Given the description of an element on the screen output the (x, y) to click on. 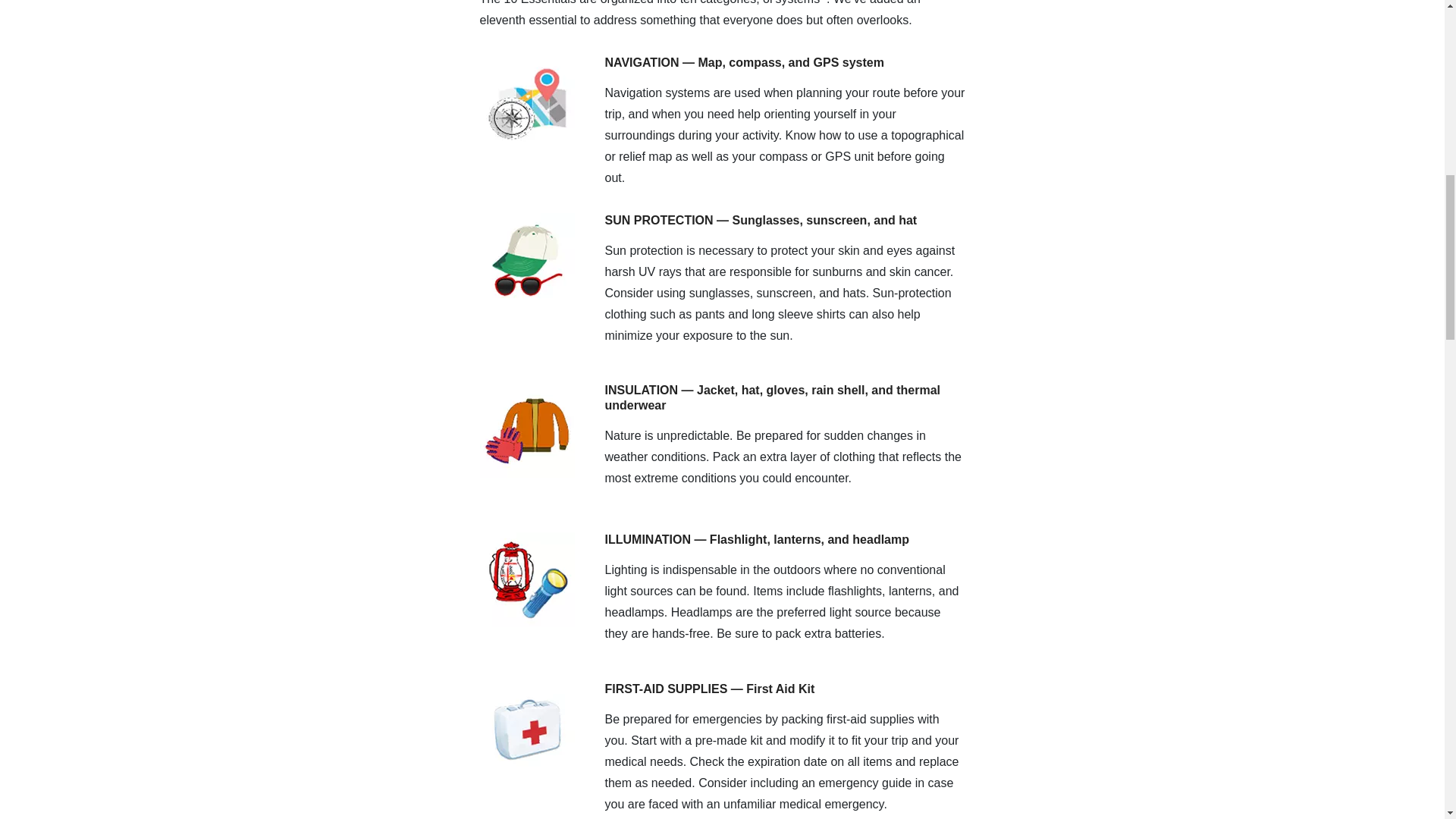
First-Aid Supplies- Illustration of First-Aid Kit (526, 727)
Sun Protection- Illustration of a hat and sunglasses (526, 259)
Insulation- Illustration of gloves and a jacket (526, 429)
Navigation (526, 101)
Illumination- Illustration of a flashlight and lantern (526, 579)
